Given the description of an element on the screen output the (x, y) to click on. 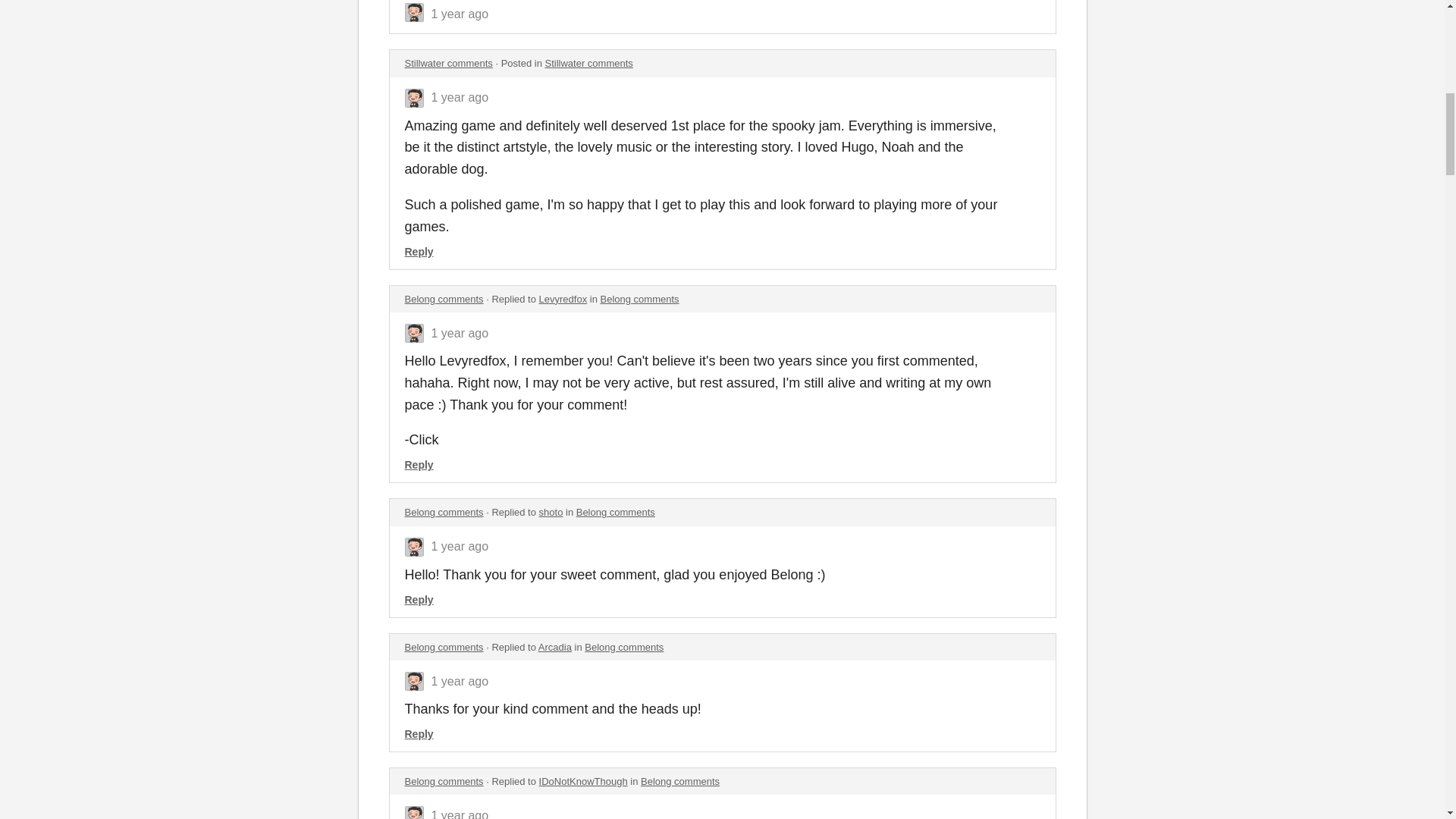
2023-06-17 02:20:27 (458, 97)
2022-09-19 08:30:56 (458, 814)
2023-04-03 06:05:35 (458, 545)
2023-06-06 01:44:45 (458, 332)
2022-10-06 00:53:22 (458, 680)
